Given the description of an element on the screen output the (x, y) to click on. 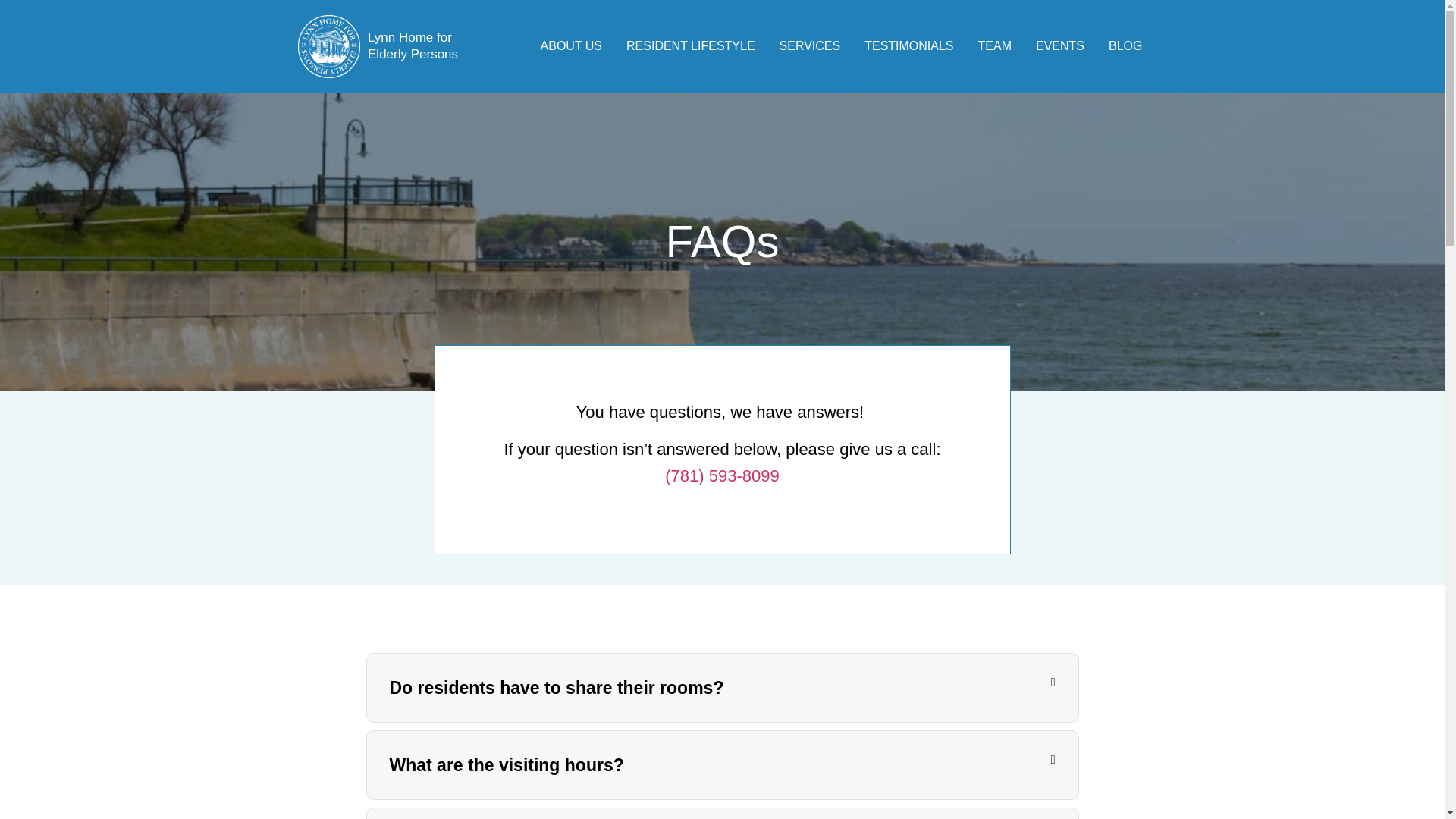
ABOUT US (571, 46)
TEAM (994, 46)
RESIDENT LIFESTYLE (690, 46)
What are the visiting hours? (507, 764)
Do residents have to share their rooms? (556, 687)
TESTIMONIALS (908, 46)
SERVICES (810, 46)
BLOG (1125, 46)
EVENTS (1059, 46)
Lynn Home for Elderly Persons (413, 45)
